Given the description of an element on the screen output the (x, y) to click on. 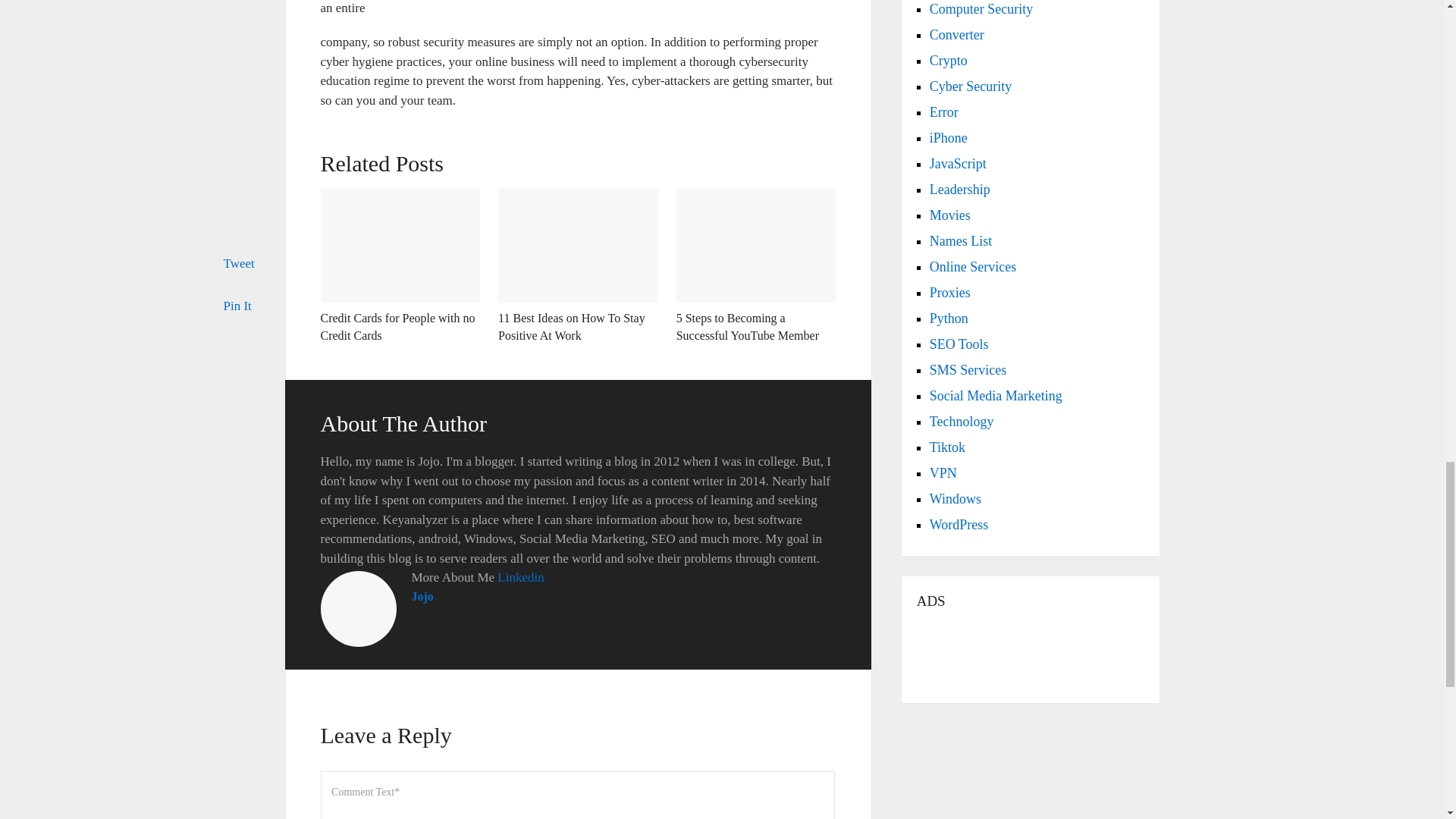
Jojo (421, 595)
Linkedin (520, 577)
Credit Cards for People with no Credit Cards (397, 326)
11 Best Ideas on How To Stay Positive At Work (571, 326)
11 Best Ideas on How To Stay Positive At Work (577, 245)
11 Best Ideas on How To Stay Positive At Work (571, 326)
5 Steps to Becoming a Successful YouTube Member (747, 326)
5 Steps to Becoming a Successful YouTube Member (756, 245)
Credit Cards for People with no Credit Cards (400, 245)
Credit Cards for People with no Credit Cards (397, 326)
